Given the description of an element on the screen output the (x, y) to click on. 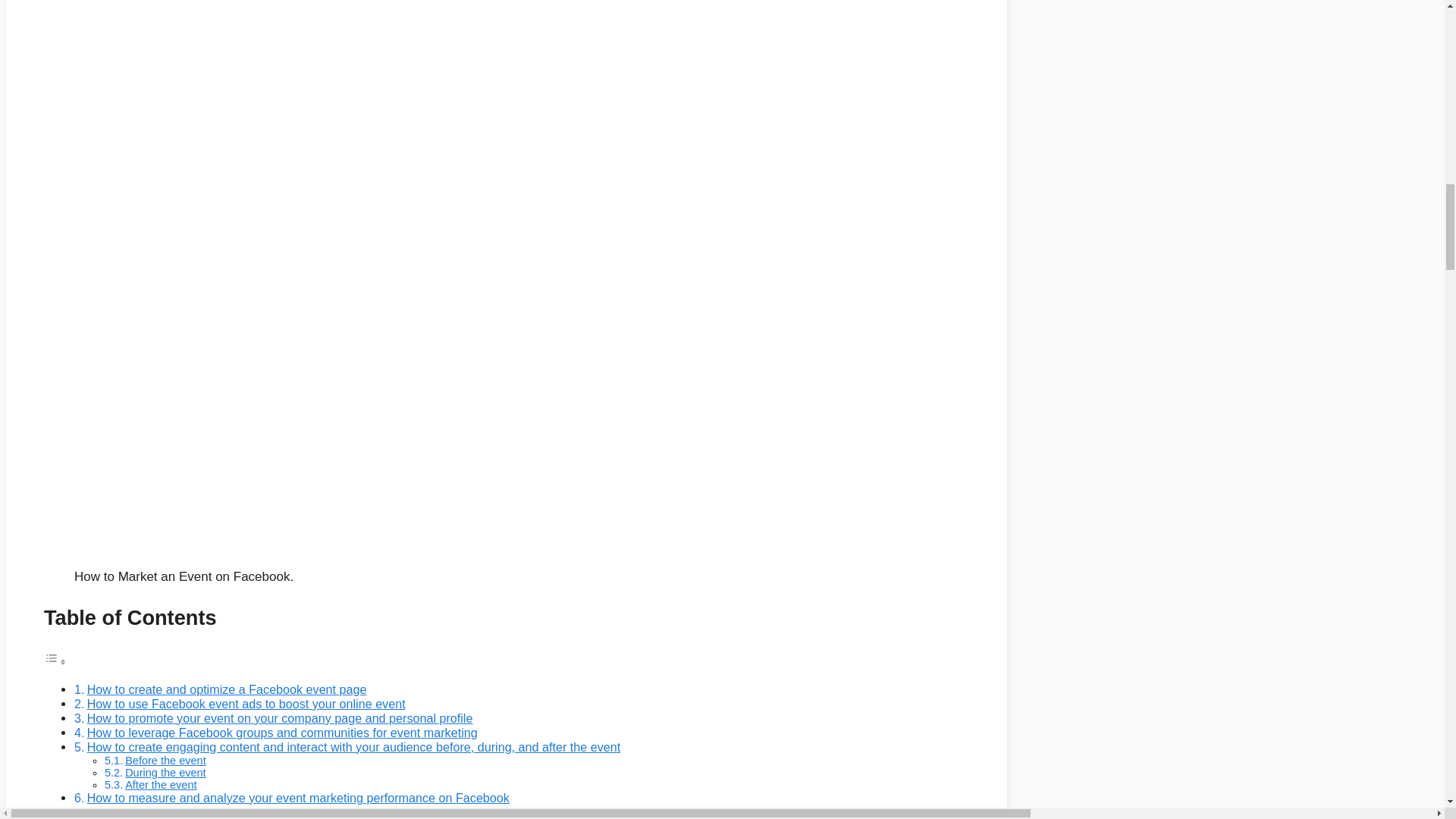
Conclusion (117, 812)
How to use Facebook event ads to boost your online event (246, 703)
After the event (160, 784)
How to use Facebook event ads to boost your online event (246, 703)
How to create and optimize a Facebook event page (226, 689)
During the event (165, 772)
Before the event (165, 760)
During the event (165, 772)
After the event (160, 784)
